Given the description of an element on the screen output the (x, y) to click on. 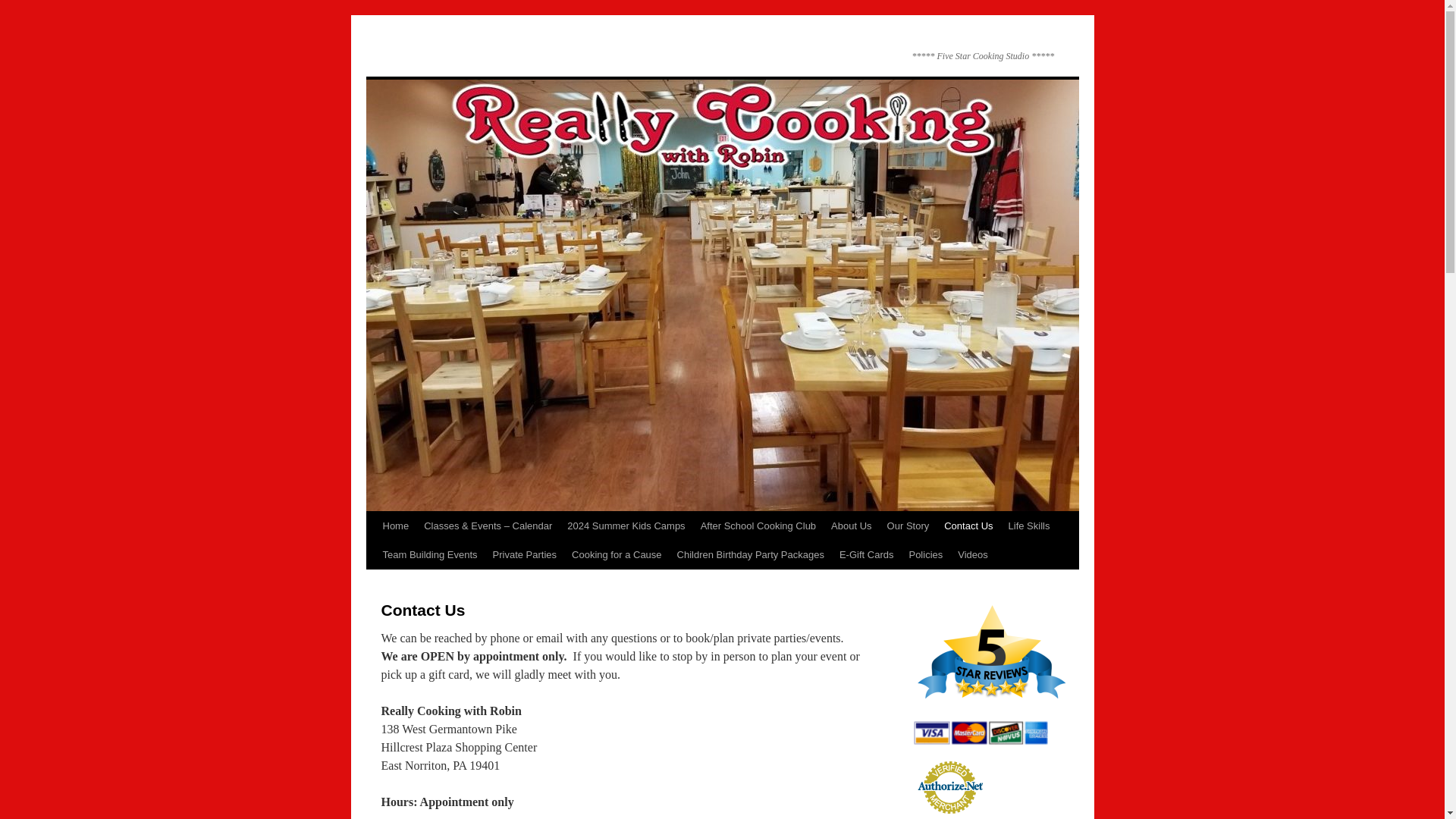
Contact Us (968, 525)
Cooking for a Cause (616, 554)
2024 Summer Kids Camps (626, 525)
Life Skills (1029, 525)
About Us (851, 525)
Children Birthday Party Packages (750, 554)
Videos (972, 554)
Policies (925, 554)
Home (395, 525)
Private Parties (524, 554)
Our Story (908, 525)
After School Cooking Club (758, 525)
E-Gift Cards (866, 554)
Team Building Events (429, 554)
